Given the description of an element on the screen output the (x, y) to click on. 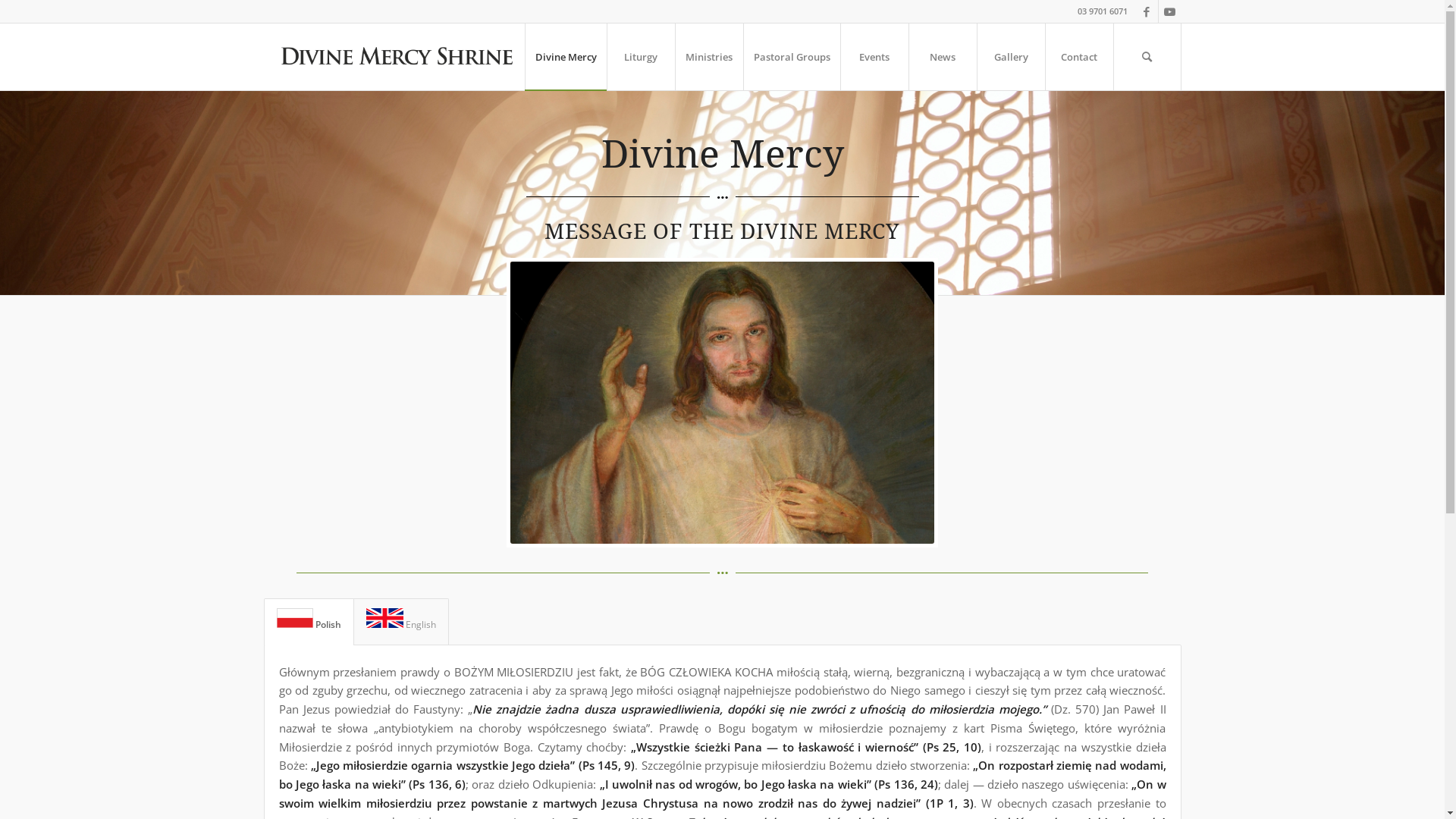
Divine Mercy Element type: text (565, 56)
Facebook Element type: hover (1146, 11)
Gallery Element type: text (1010, 56)
Liturgy Element type: text (640, 56)
Ministries Element type: text (708, 56)
Contact Element type: text (1078, 56)
Youtube Element type: hover (1169, 11)
Pastoral Groups Element type: text (791, 56)
Events Element type: text (874, 56)
dms_logo_02 Element type: hover (395, 56)
divine_mercy_02 Element type: hover (722, 402)
News Element type: text (942, 56)
